Given the description of an element on the screen output the (x, y) to click on. 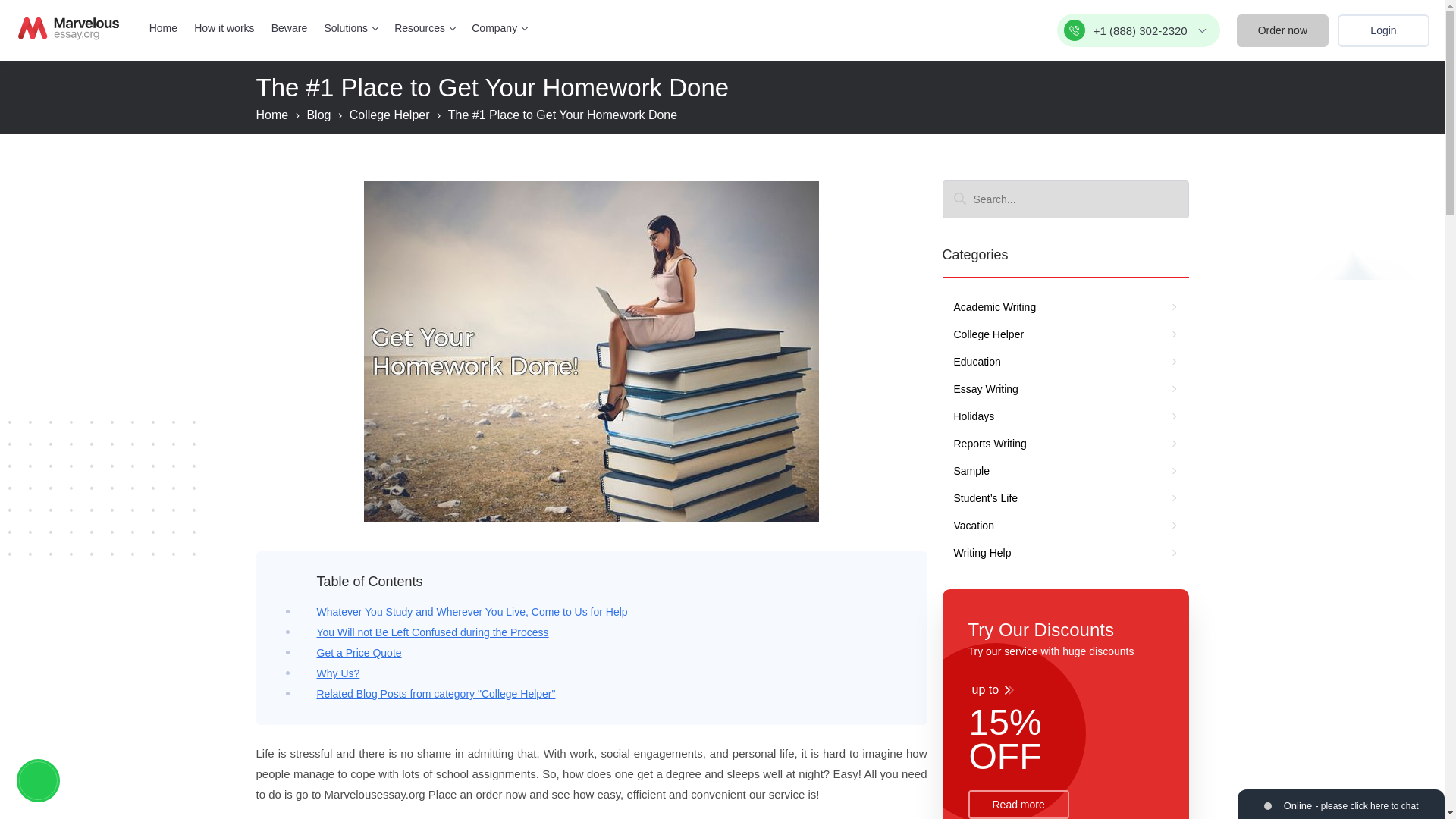
Beware (288, 28)
Company (499, 28)
How it works (223, 28)
Resources (424, 28)
MarvelousEssay.org (68, 28)
Solutions (350, 28)
Home (163, 28)
